Given the description of an element on the screen output the (x, y) to click on. 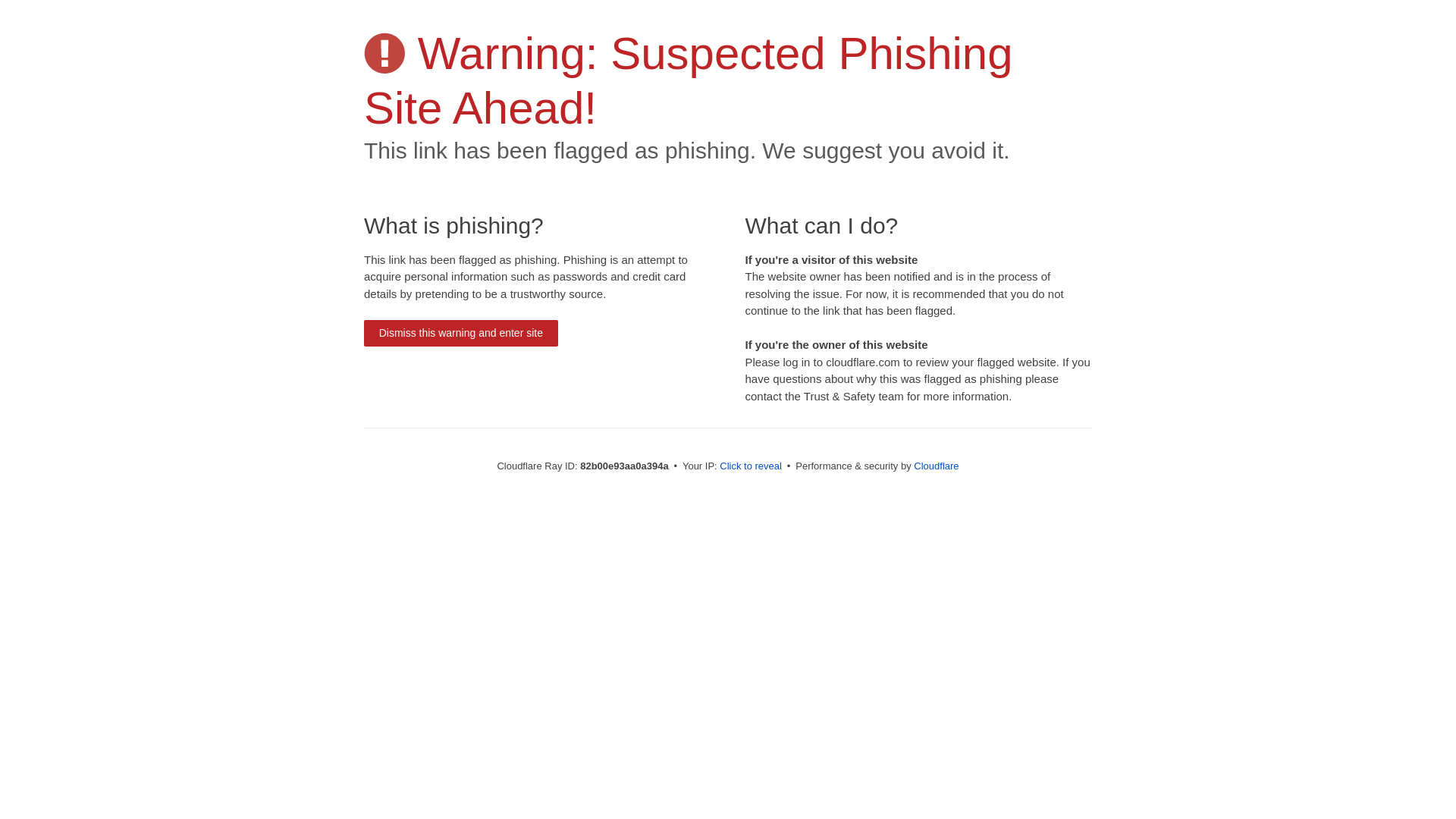
Dismiss this warning and enter site Element type: text (461, 333)
Cloudflare Element type: text (935, 465)
Click to reveal Element type: text (750, 465)
